Given the description of an element on the screen output the (x, y) to click on. 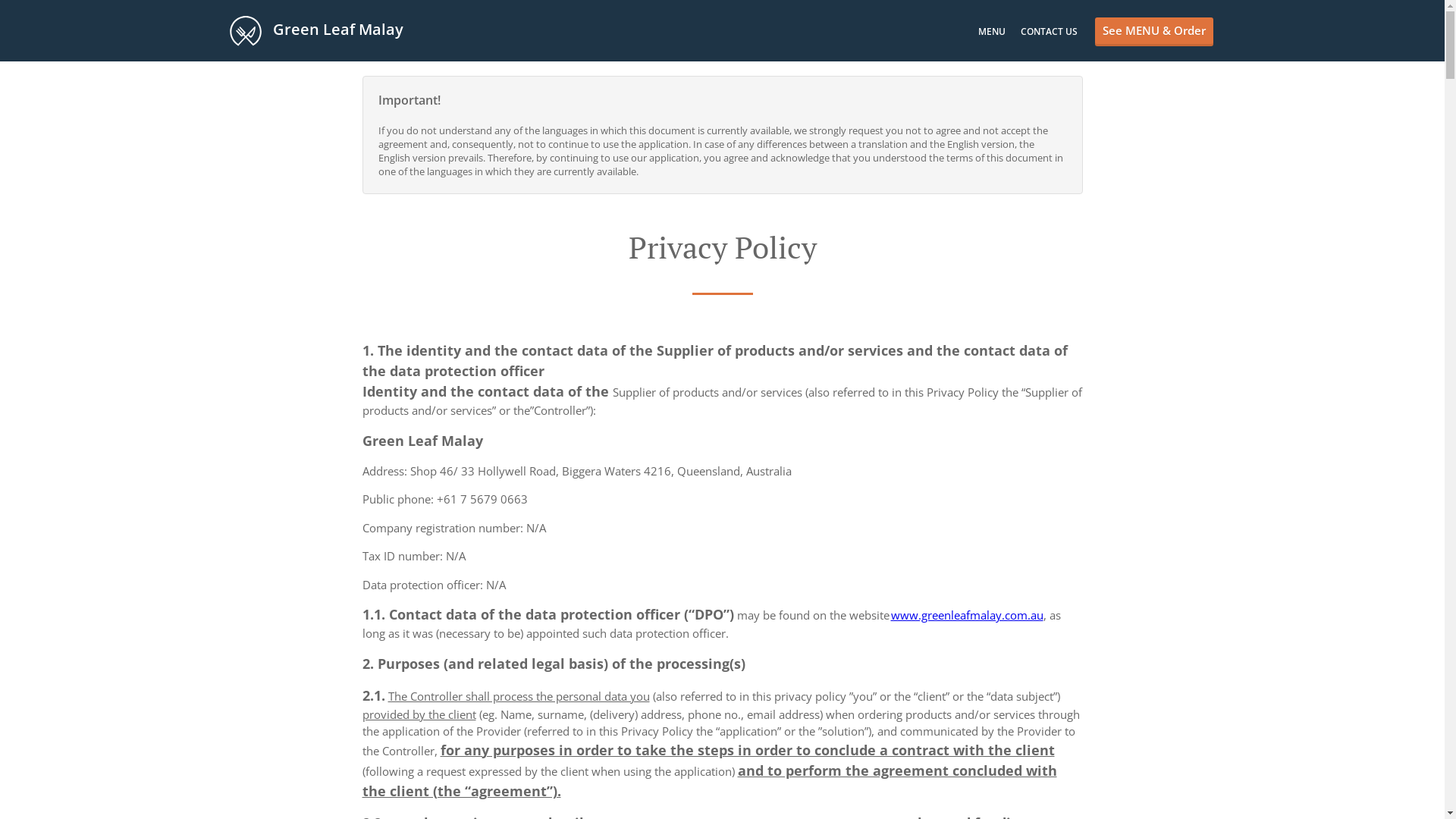
www.greenleafmalay.com.au Element type: text (965, 614)
 Green Leaf Malay Element type: text (323, 30)
CONTACT US Element type: text (1048, 31)
MENU Element type: text (991, 31)
